Given the description of an element on the screen output the (x, y) to click on. 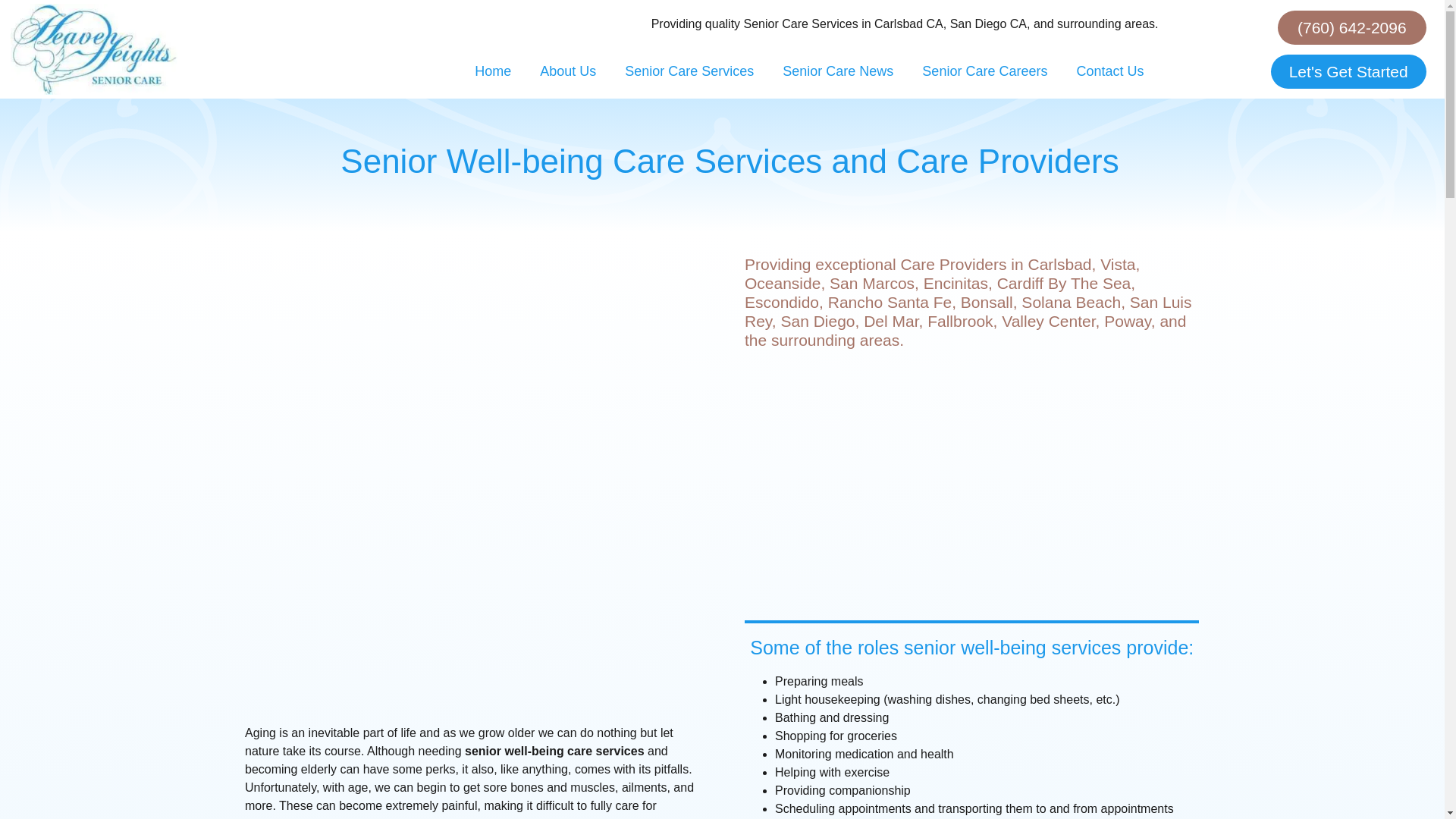
Let's Get Started (1348, 71)
Senior Care Services (689, 70)
Contact Us (1109, 70)
Senior Care Careers (984, 70)
Senior Care News (837, 70)
About Us (567, 70)
Home (492, 70)
